Given the description of an element on the screen output the (x, y) to click on. 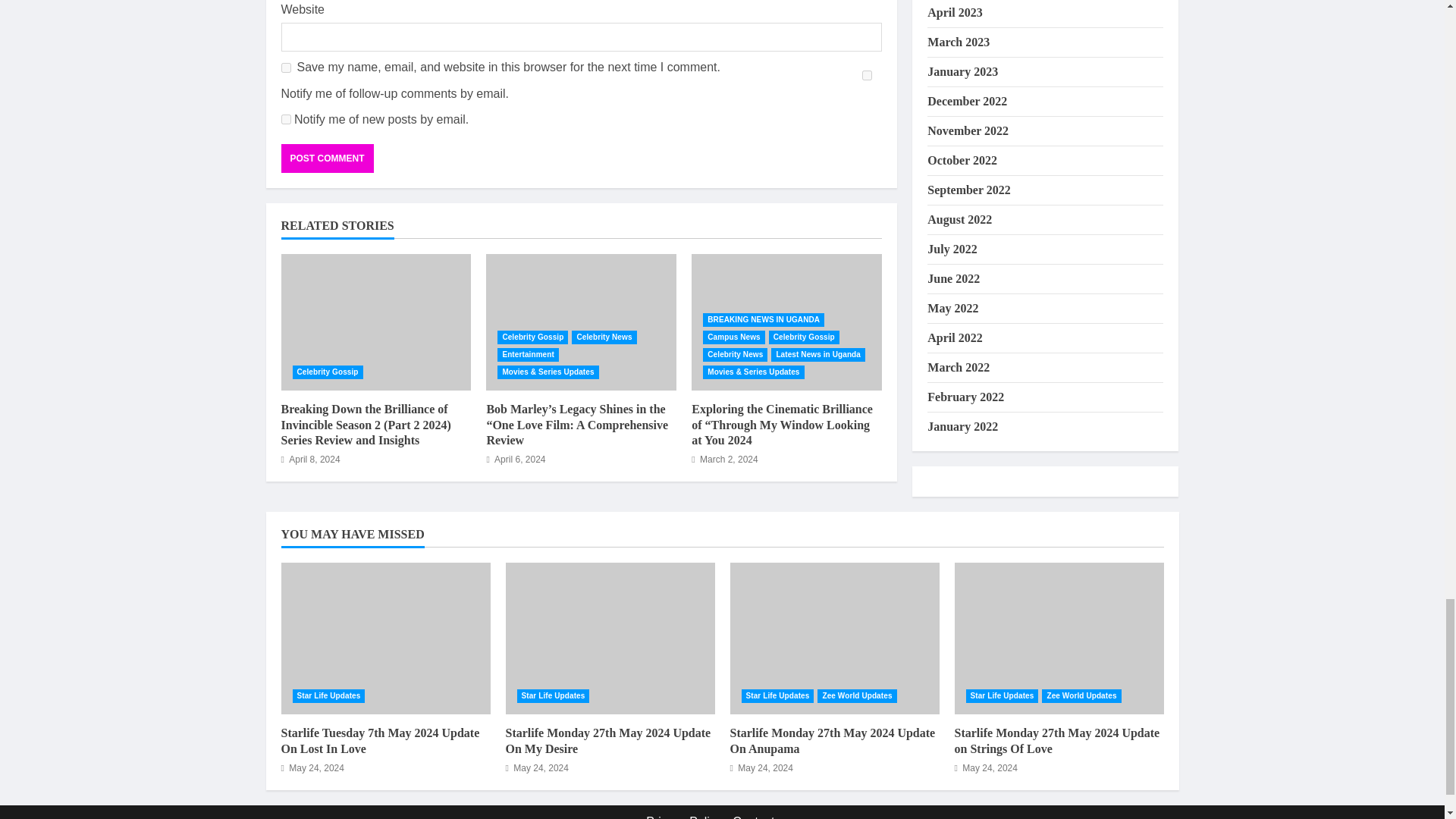
yes (285, 67)
subscribe (866, 75)
Post Comment (326, 158)
subscribe (285, 119)
